Given the description of an element on the screen output the (x, y) to click on. 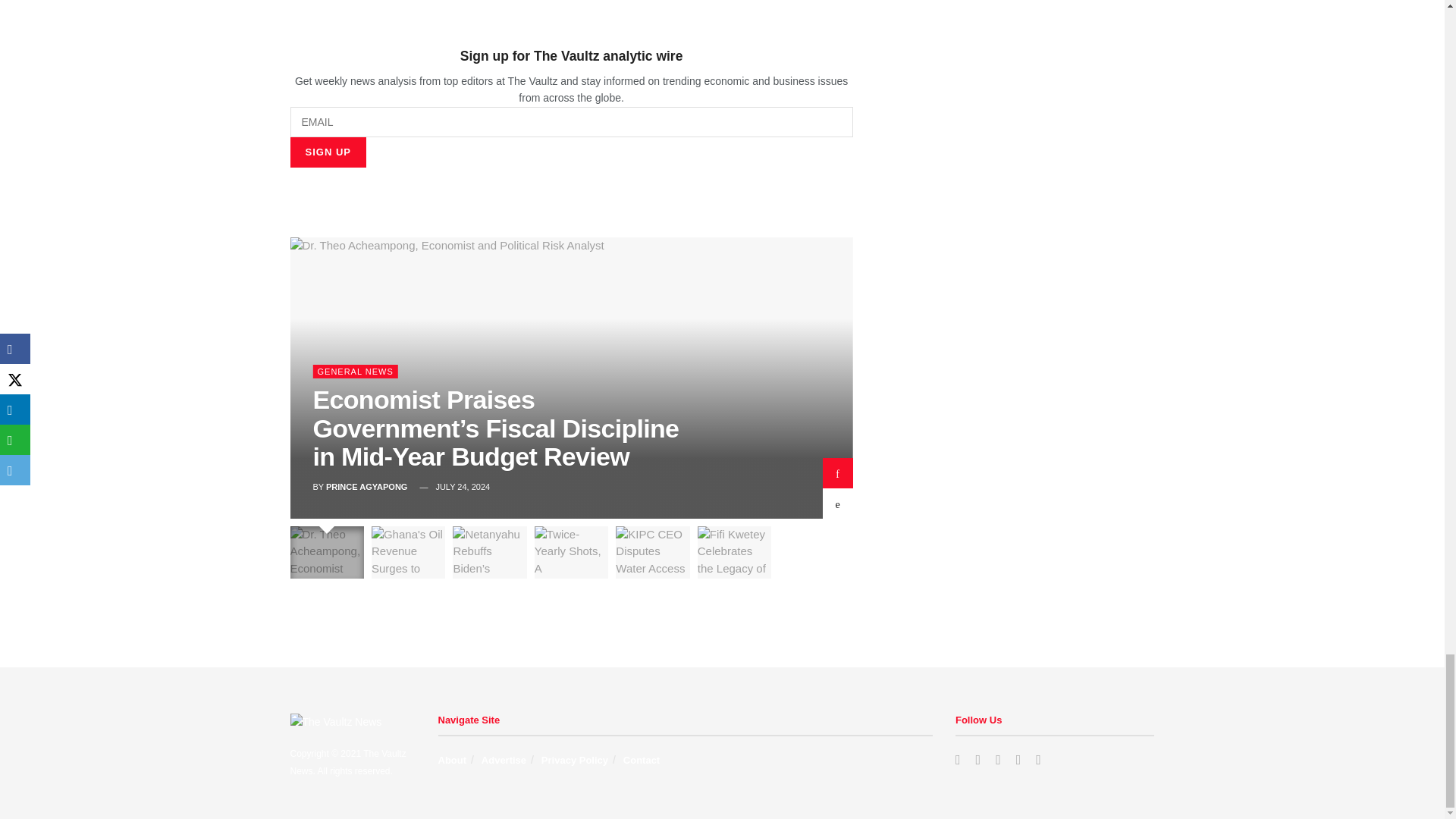
Sign up (327, 152)
